Given the description of an element on the screen output the (x, y) to click on. 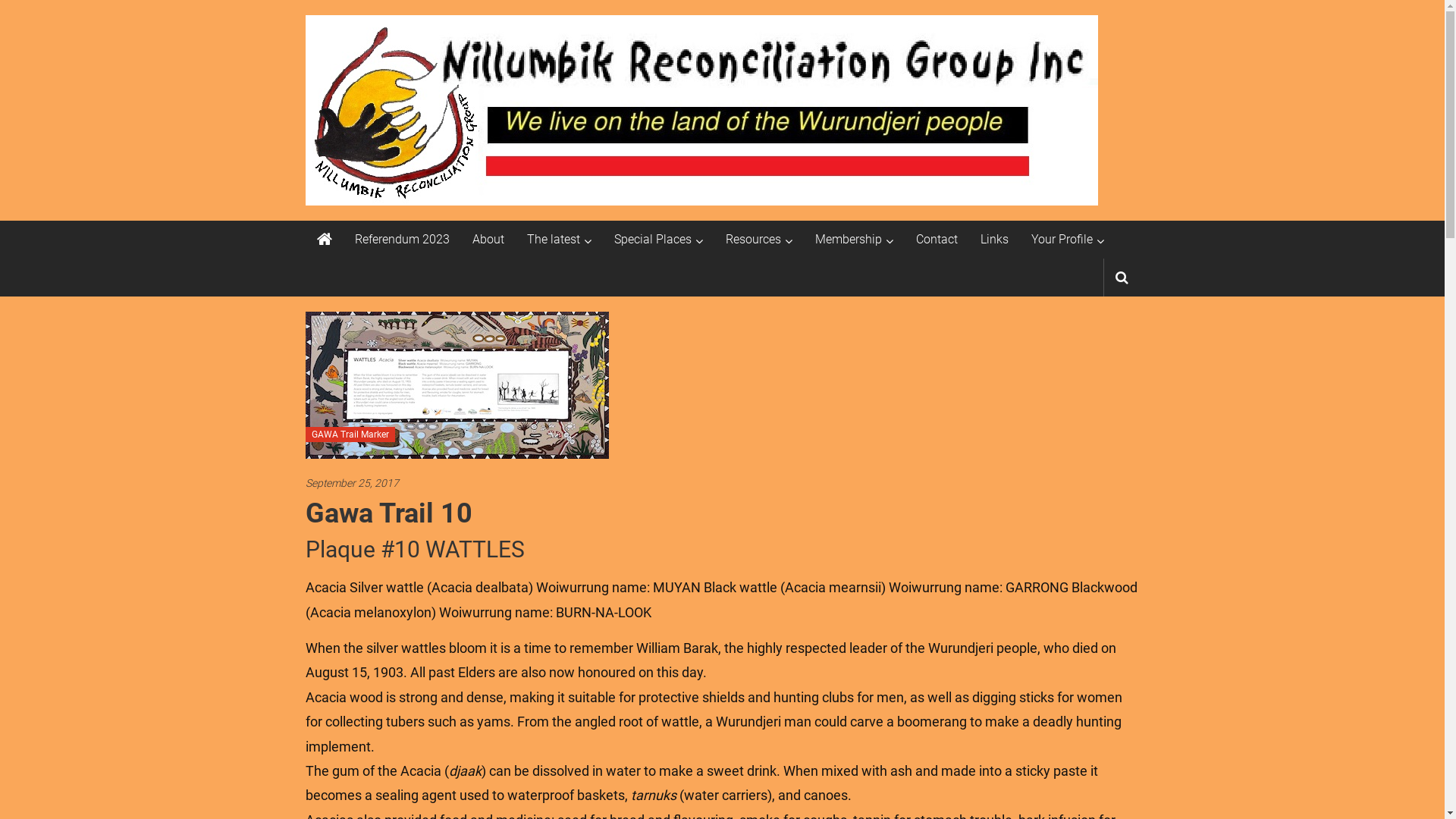
Special Places Element type: text (652, 239)
NRG Element type: hover (323, 239)
Resources Element type: text (752, 239)
September 25, 2017 Element type: text (721, 482)
GAWA Trail Marker Element type: text (349, 434)
Links Element type: text (993, 239)
About Element type: text (487, 239)
Membership Element type: text (847, 239)
Referendum 2023 Element type: text (401, 239)
Contact Element type: text (936, 239)
The latest Element type: text (552, 239)
Your Profile Element type: text (1061, 239)
